Given the description of an element on the screen output the (x, y) to click on. 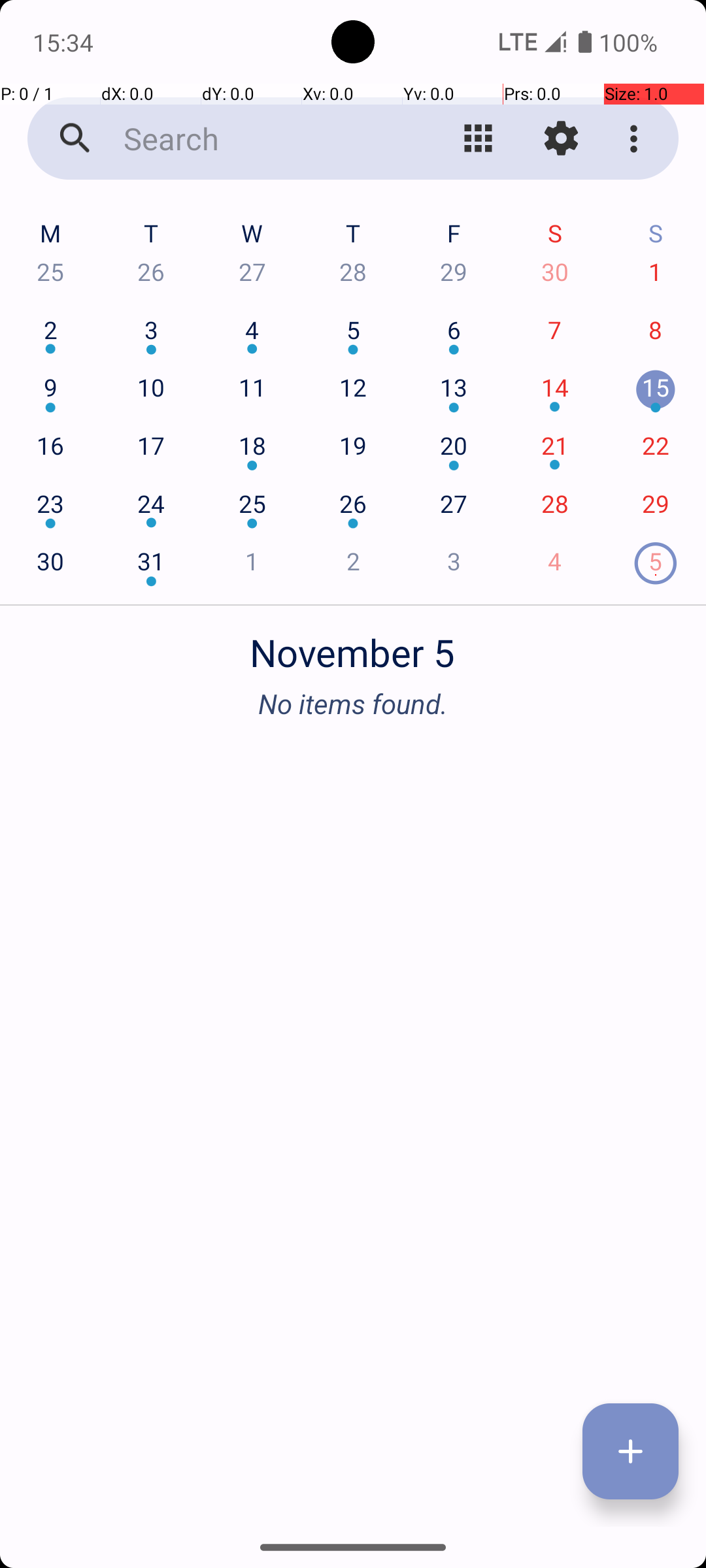
November 5 Element type: android.widget.TextView (352, 644)
